Given the description of an element on the screen output the (x, y) to click on. 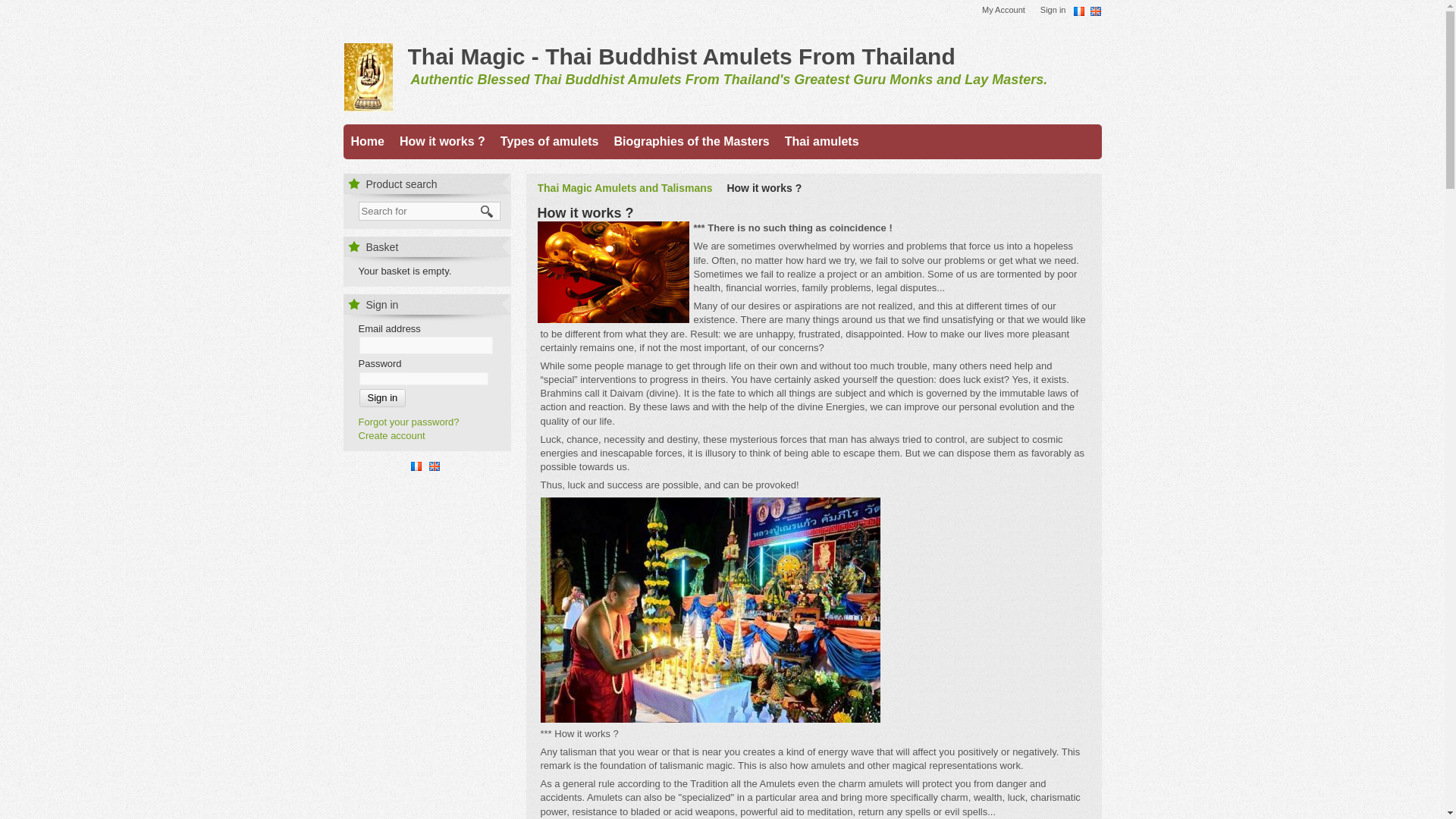
Thai amulets (825, 140)
Types of amulets (553, 140)
Home (370, 140)
Thai Magic - Thai Buddhist Amulets From Thailand (681, 56)
How it works ? (612, 271)
Thai Magic - Thai Buddhist Amulets From Thailand (681, 56)
How it works ? (445, 140)
Sign in (1057, 10)
Biographies of the Masters (694, 140)
My Account (1006, 10)
